Given the description of an element on the screen output the (x, y) to click on. 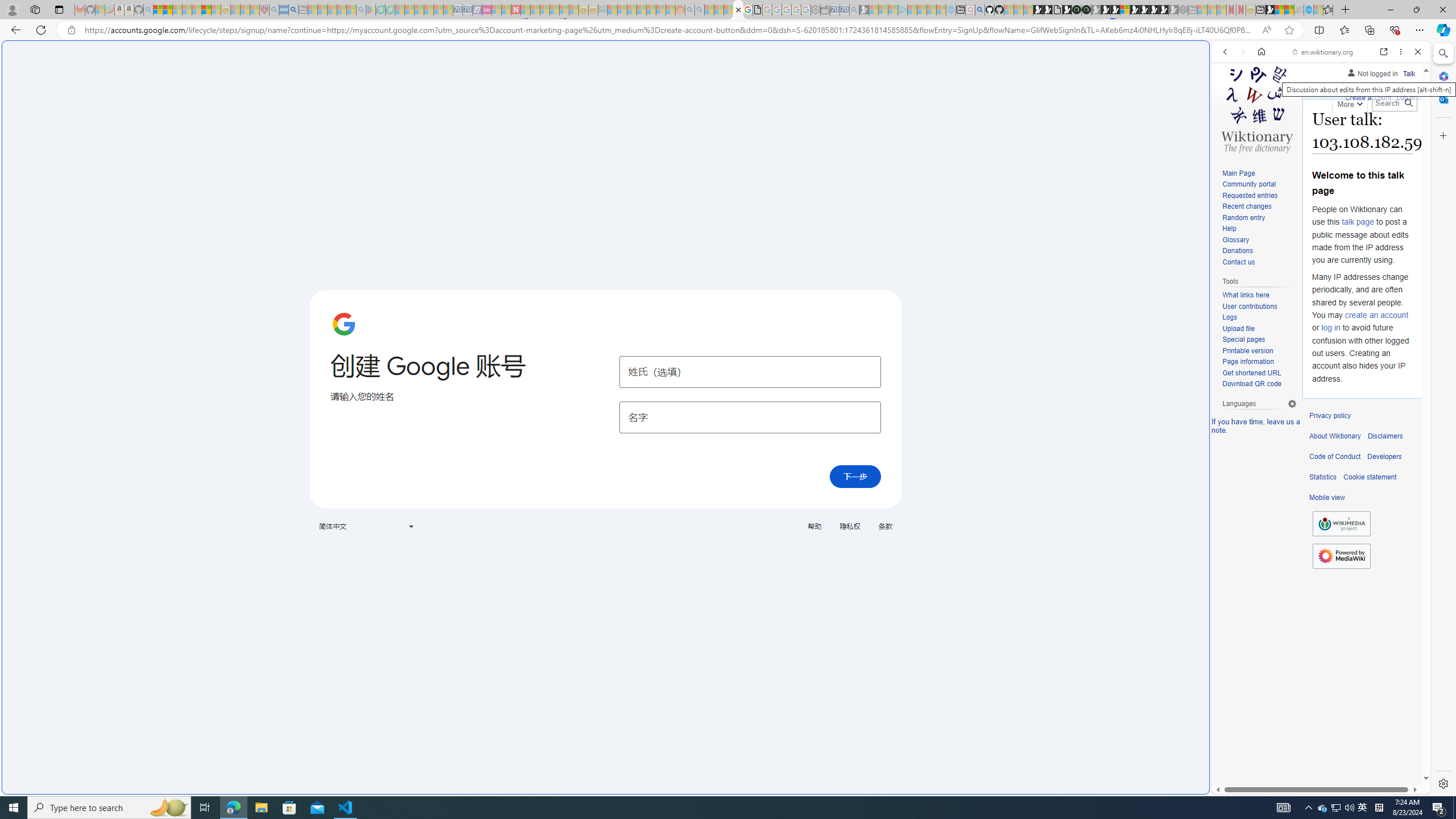
Printable version (1247, 350)
Powered by MediaWiki (1341, 556)
Create account (1367, 96)
en.wiktionary.org (1323, 51)
Earth has six continents not seven, radical new study claims (1288, 9)
Search or enter web address (922, 108)
Not logged in (1371, 71)
